Given the description of an element on the screen output the (x, y) to click on. 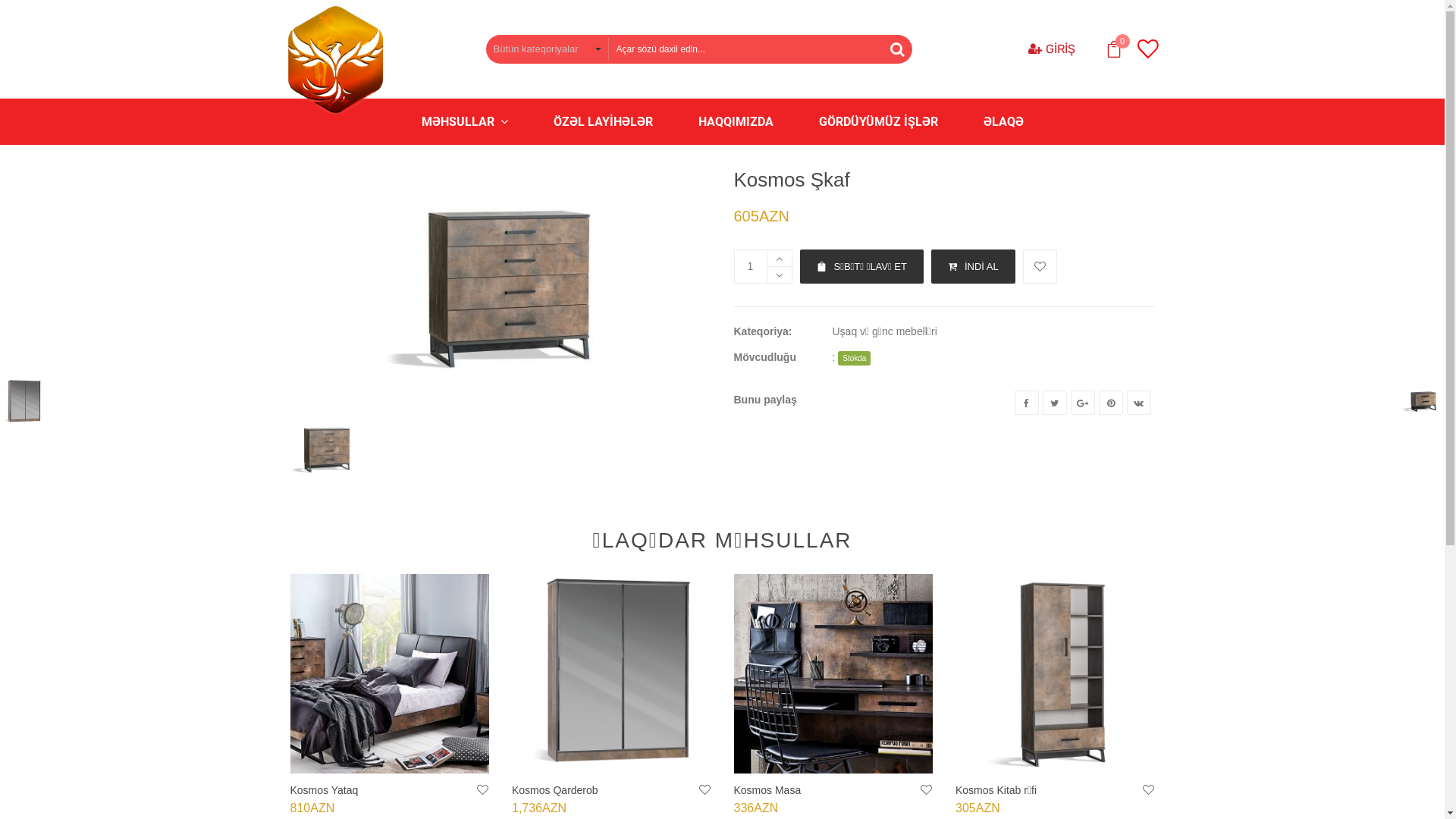
Kosmos Yataq Element type: hover (389, 673)
Kosmos Qarderob Element type: text (554, 790)
HAQQIMIZDA Element type: text (734, 121)
Kosmos Yataq Element type: text (323, 790)
Facebook Element type: hover (1026, 402)
Googleplus Element type: hover (1082, 402)
Kosmos Masa Element type: text (767, 790)
VK Element type: hover (1138, 402)
Pinterest Element type: hover (1110, 402)
Kosmos Qarderob Element type: hover (611, 673)
Twitter Element type: hover (1053, 402)
Kosmos Masa Element type: hover (833, 673)
Miqdar Element type: hover (750, 266)
